Given the description of an element on the screen output the (x, y) to click on. 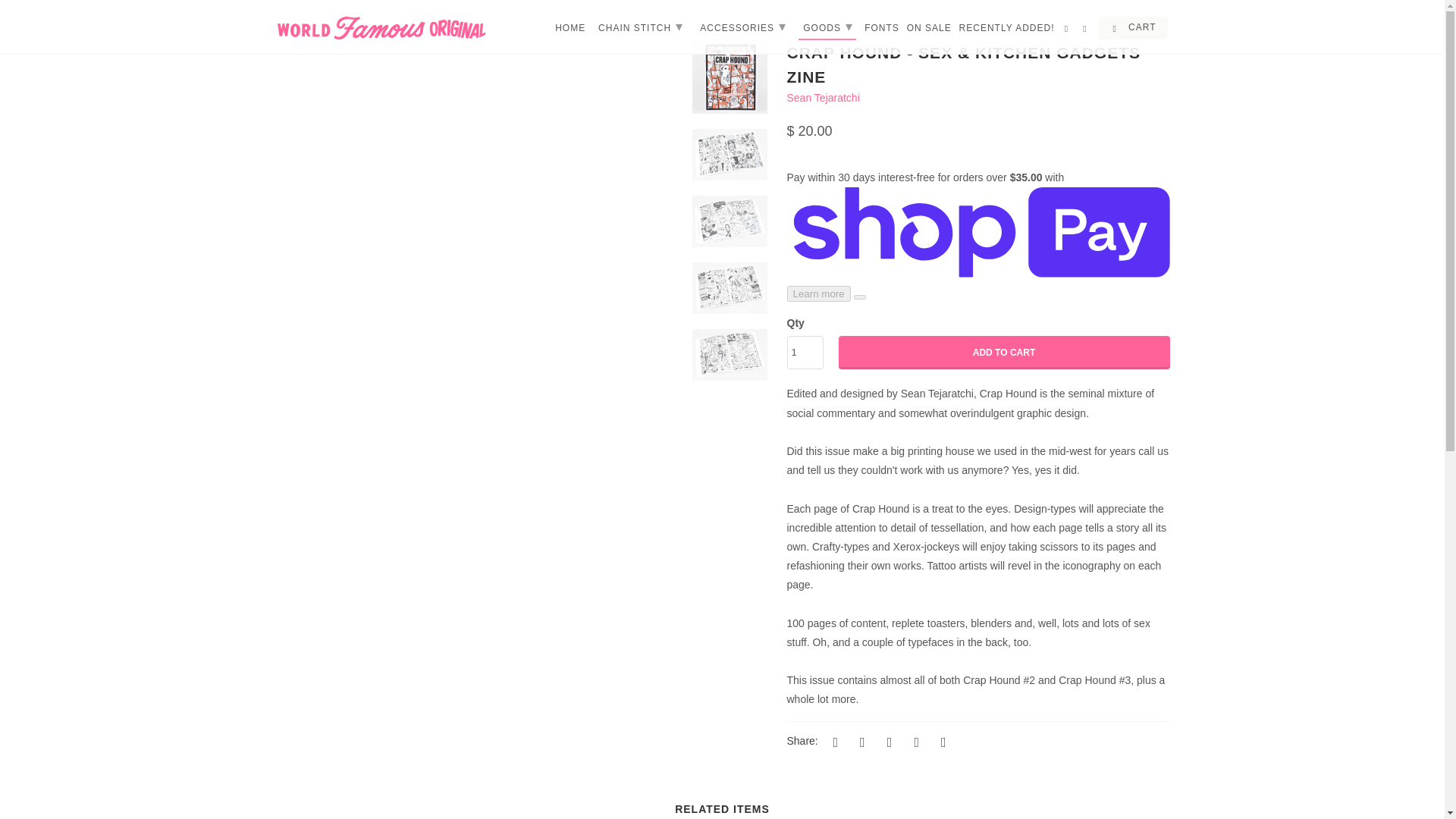
World Famous Original (380, 26)
Sean Tejaratchi (823, 97)
1 (805, 352)
Share this on Twitter (833, 741)
Share this on Facebook (859, 741)
